Given the description of an element on the screen output the (x, y) to click on. 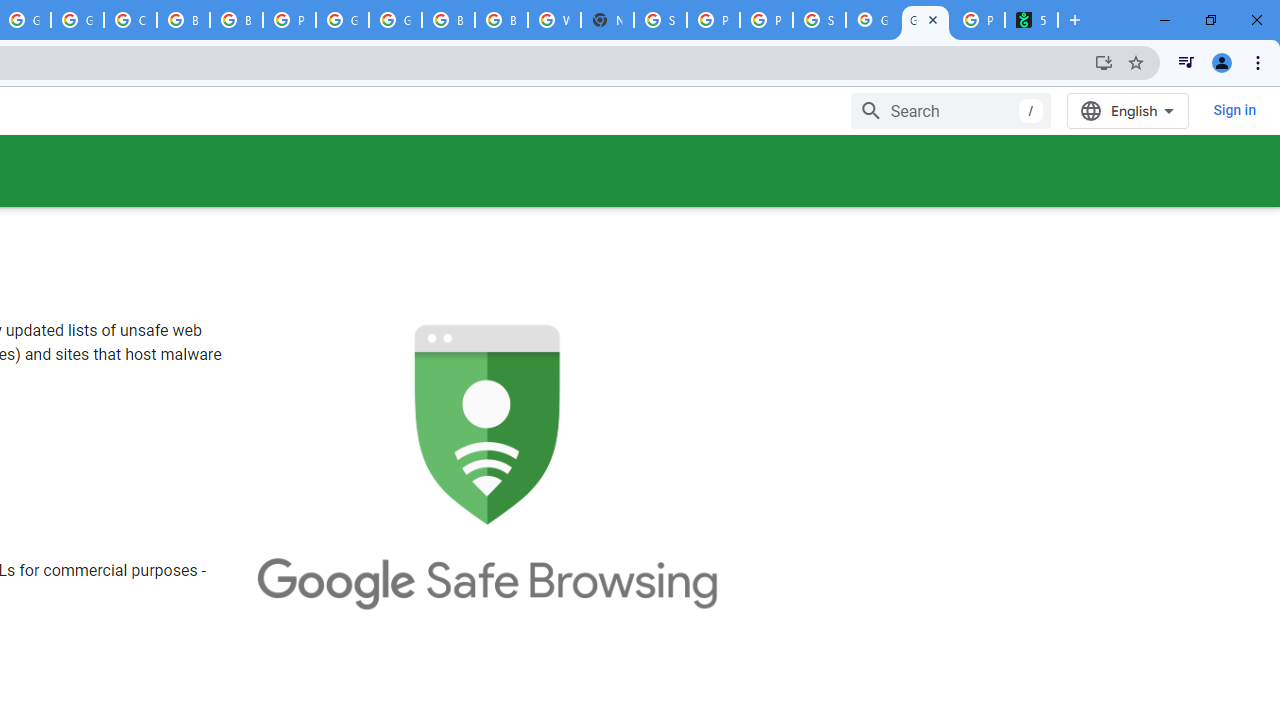
Control your music, videos, and more (1185, 62)
Sign in (1234, 110)
Search (951, 110)
Google Cloud Platform (342, 20)
Browse Chrome as a guest - Computer - Google Chrome Help (501, 20)
Browse Chrome as a guest - Computer - Google Chrome Help (183, 20)
